Given the description of an element on the screen output the (x, y) to click on. 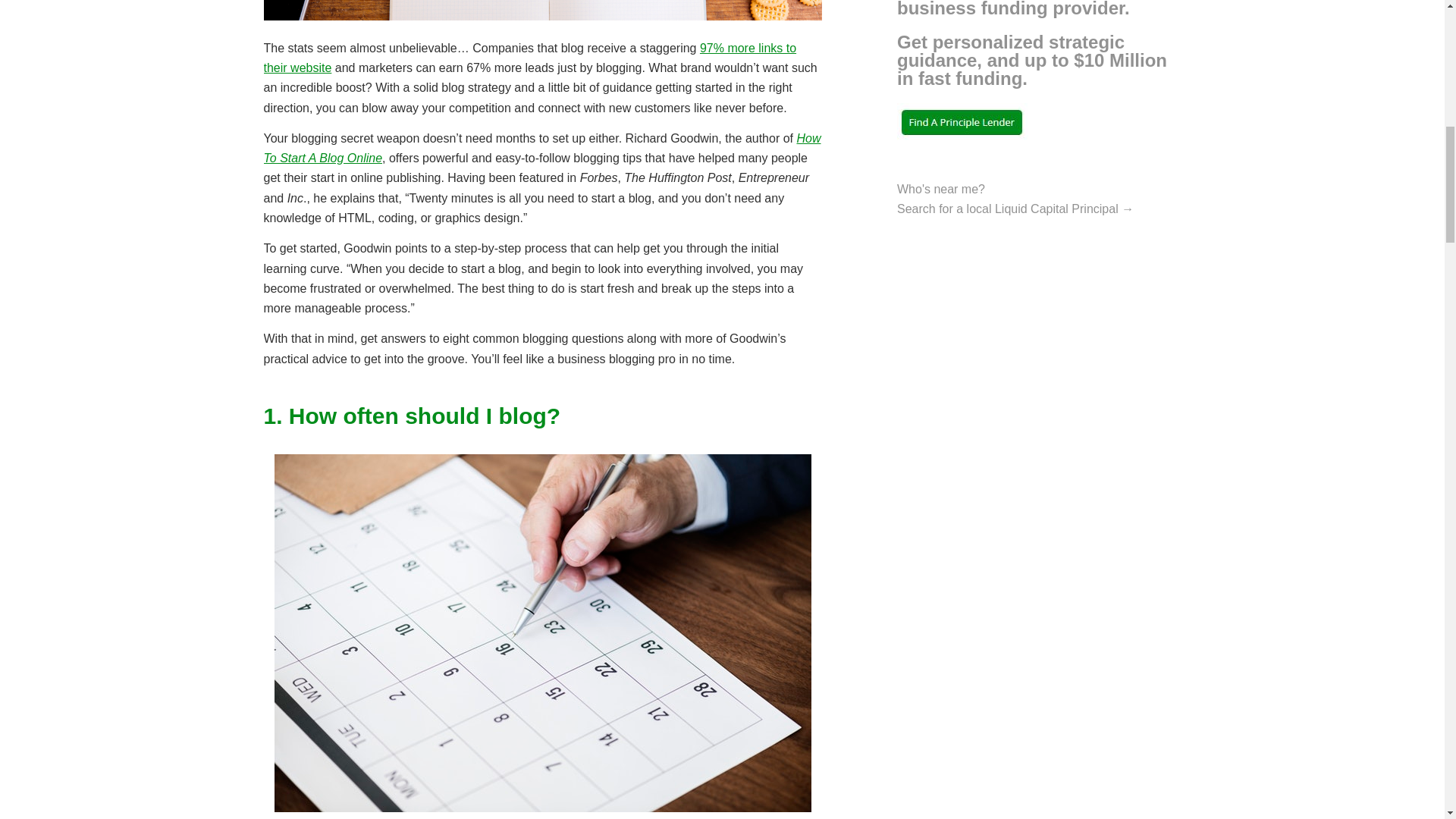
How To Start A Blog Online (542, 147)
